Given the description of an element on the screen output the (x, y) to click on. 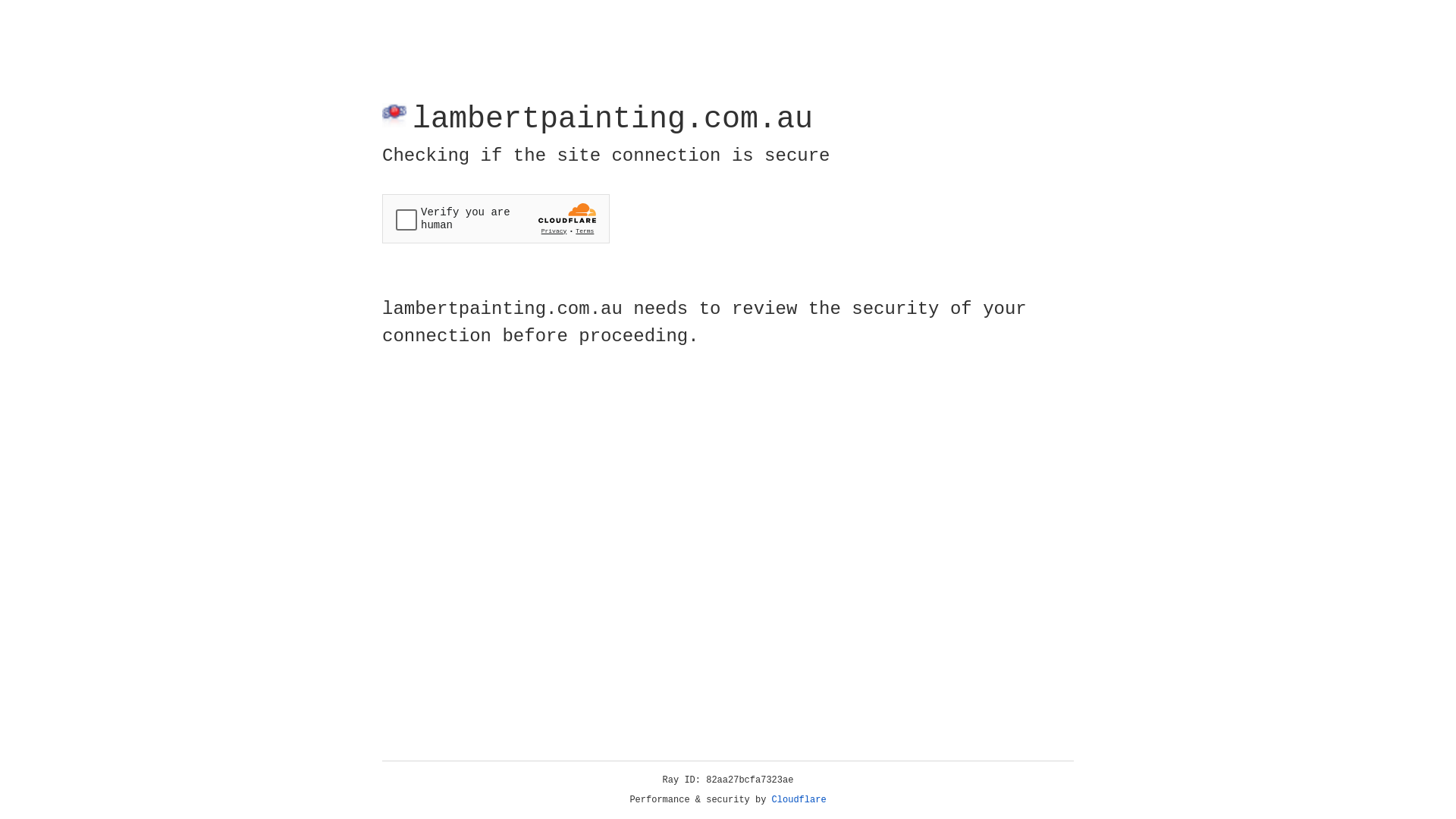
Cloudflare Element type: text (798, 799)
Widget containing a Cloudflare security challenge Element type: hover (495, 218)
